Given the description of an element on the screen output the (x, y) to click on. 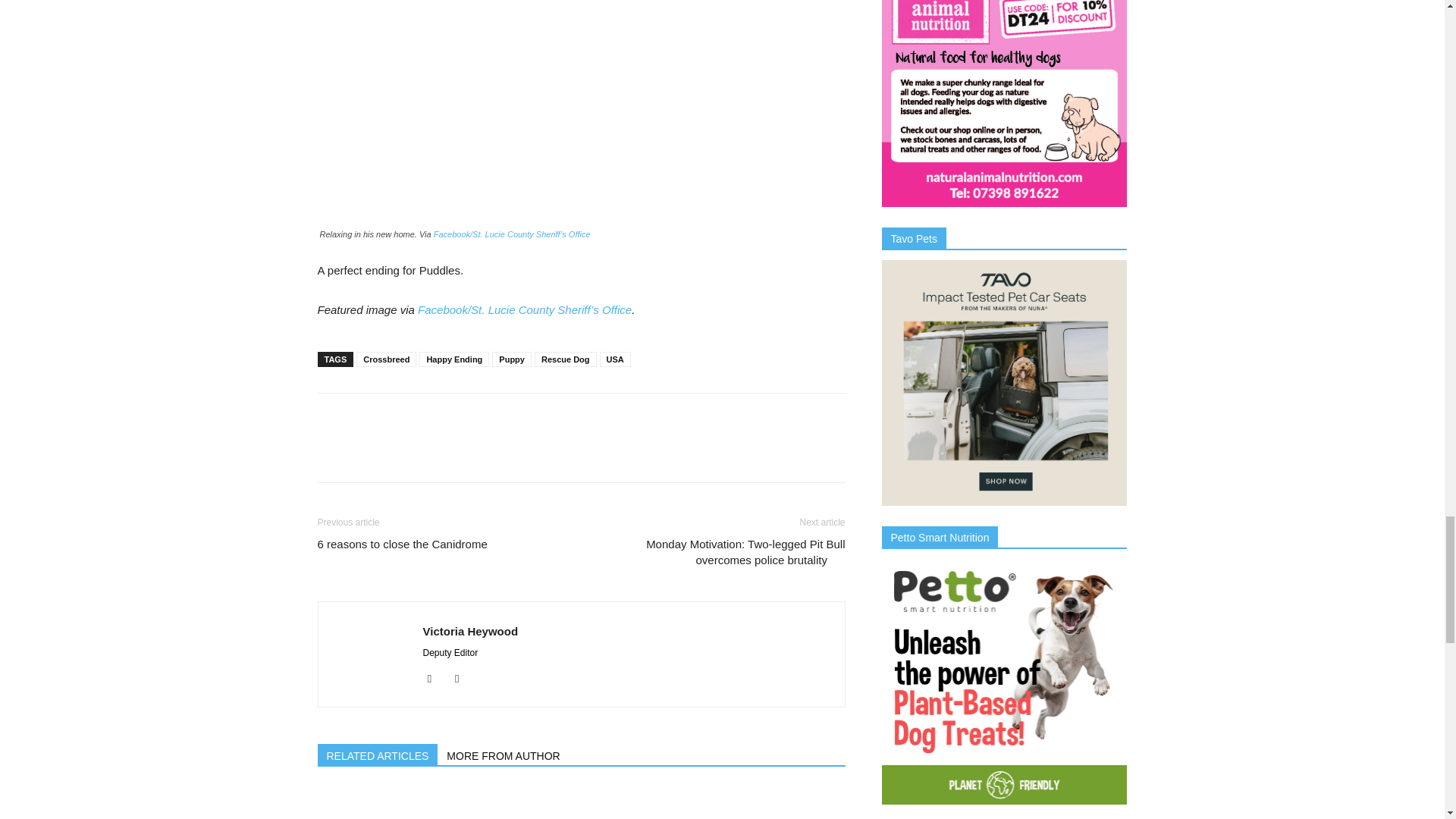
Facebook (435, 678)
Surge in reports of illegal dog ear cropping (399, 803)
Twitter (462, 678)
